Given the description of an element on the screen output the (x, y) to click on. 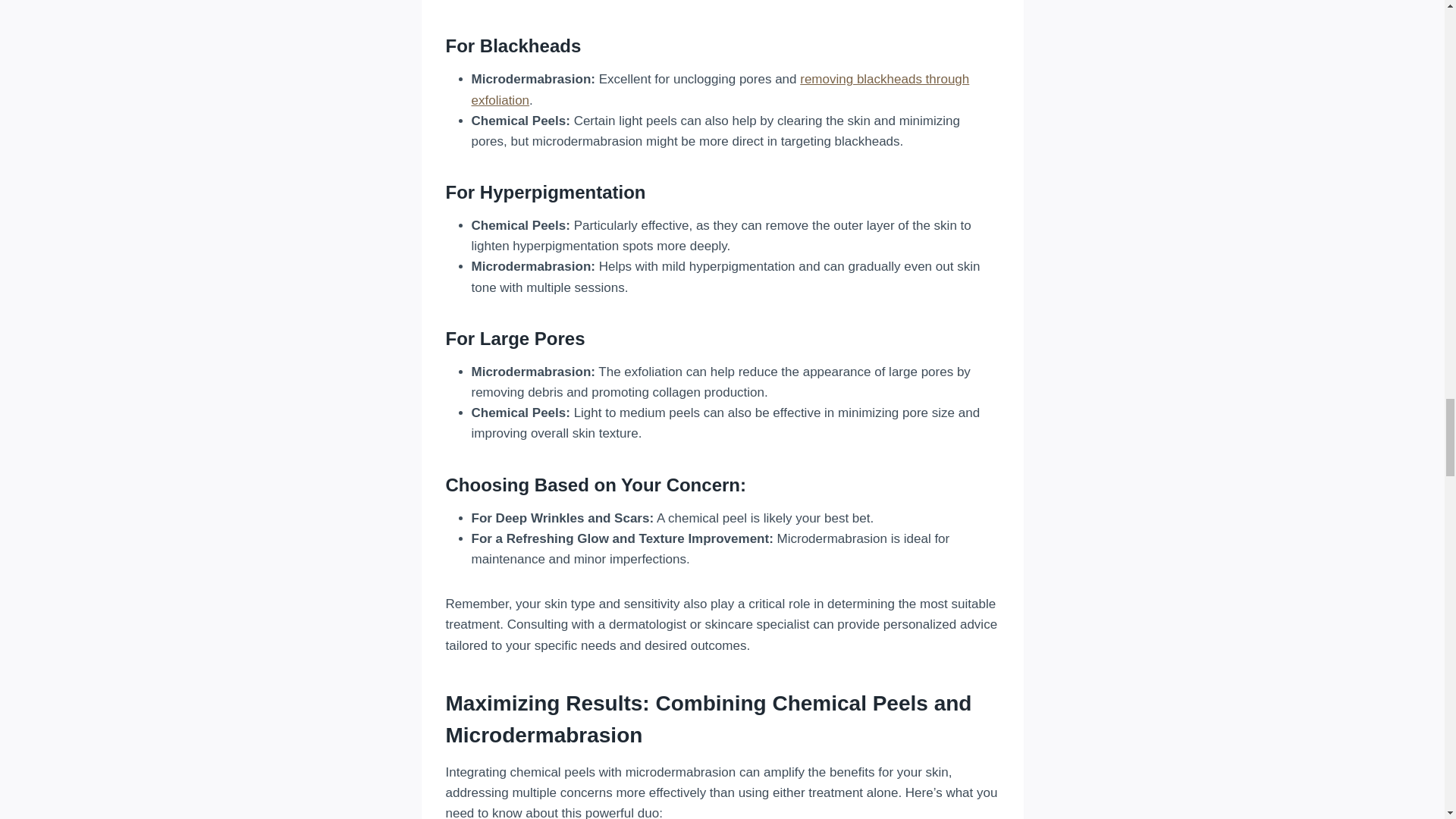
removing blackheads through exfoliation (720, 89)
